Given the description of an element on the screen output the (x, y) to click on. 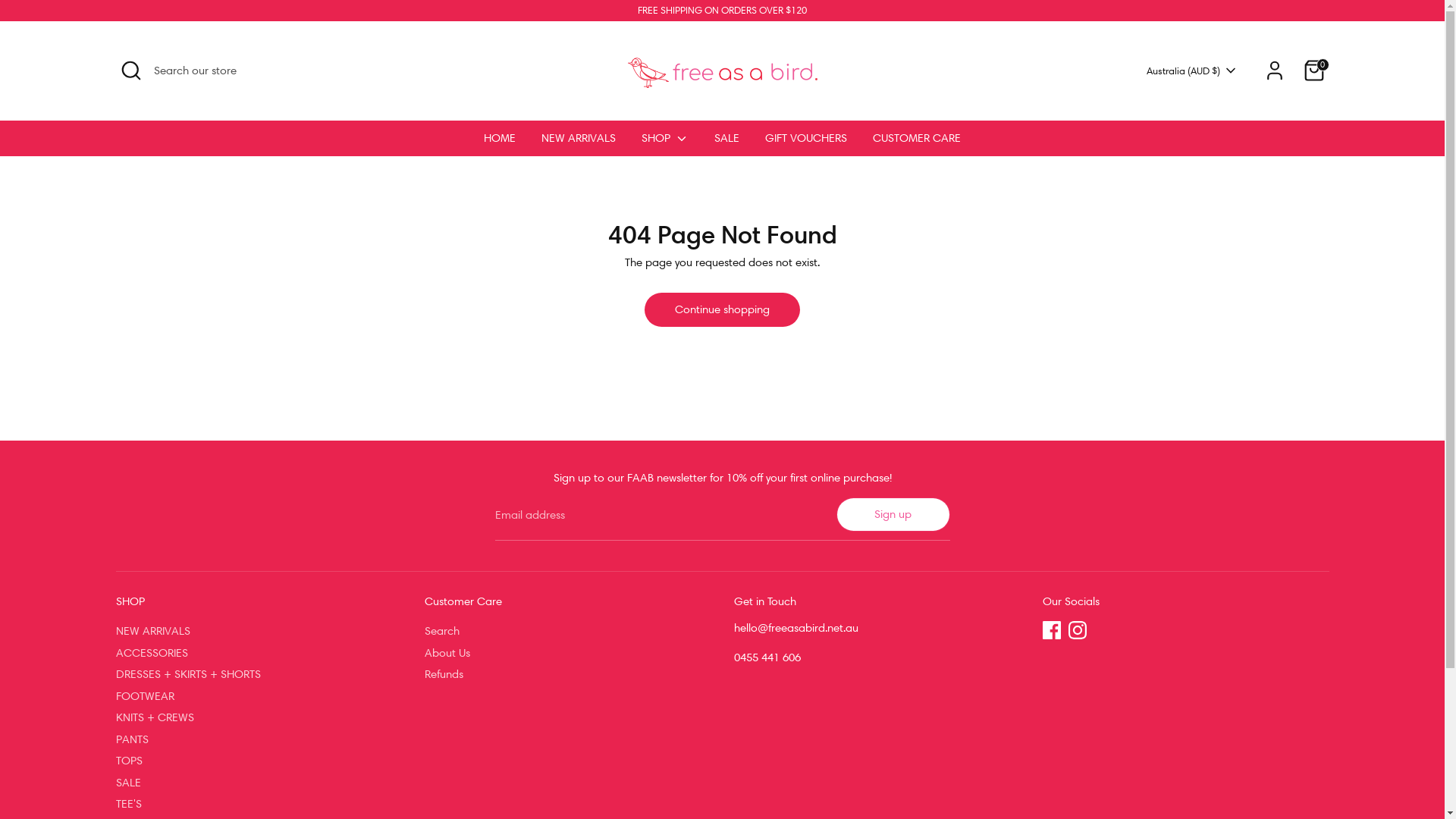
SALE Element type: text (127, 782)
PANTS Element type: text (131, 739)
HOME Element type: text (499, 142)
Search Element type: text (441, 630)
FOOTWEAR Element type: text (144, 695)
NEW ARRIVALS Element type: text (578, 142)
Sign up Element type: text (893, 514)
0 Element type: text (1313, 70)
KNITS + CREWS Element type: text (154, 717)
DRESSES + SKIRTS + SHORTS Element type: text (187, 673)
Refunds Element type: text (443, 673)
TEE'S Element type: text (128, 803)
Australia (AUD $) Element type: text (1192, 70)
TOPS Element type: text (128, 760)
SALE Element type: text (726, 142)
ACCESSORIES Element type: text (151, 652)
About Us Element type: text (447, 652)
Continue shopping Element type: text (722, 309)
CUSTOMER CARE Element type: text (916, 142)
NEW ARRIVALS Element type: text (152, 630)
SHOP Element type: text (664, 142)
GIFT VOUCHERS Element type: text (805, 142)
